Given the description of an element on the screen output the (x, y) to click on. 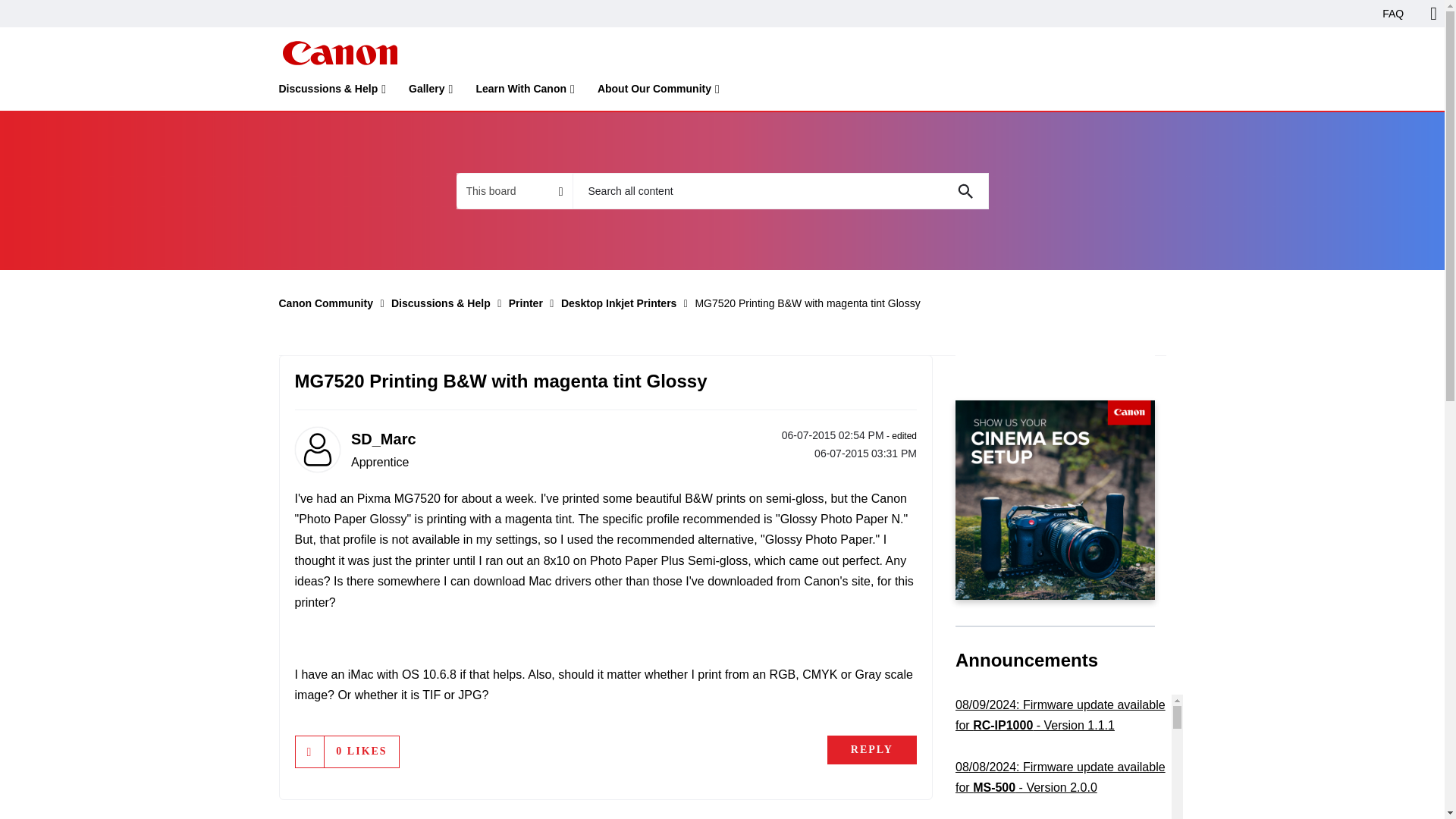
The total number of likes this post has received. (360, 750)
Search (780, 190)
FAQ (1393, 13)
Learn With Canon (525, 91)
Canon Community (339, 53)
About Our Community (657, 91)
Search Granularity (514, 190)
